Given the description of an element on the screen output the (x, y) to click on. 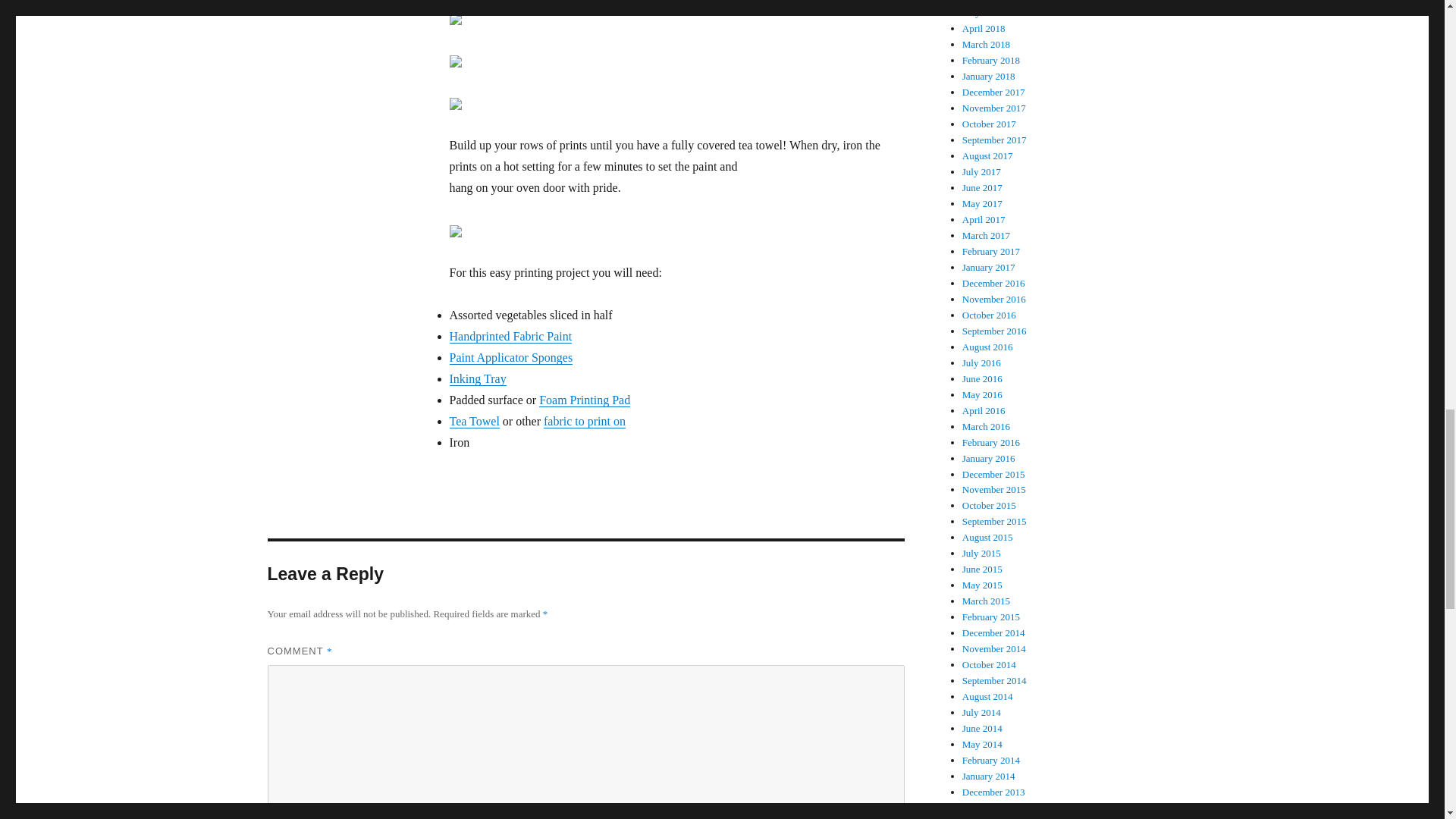
Tea Towel (473, 420)
Paint Applicator Sponges (510, 357)
Inking Tray (476, 378)
Foam Printing Pad (584, 399)
Handprinted Fabric Paint (510, 336)
fabric to print on (584, 420)
